Given the description of an element on the screen output the (x, y) to click on. 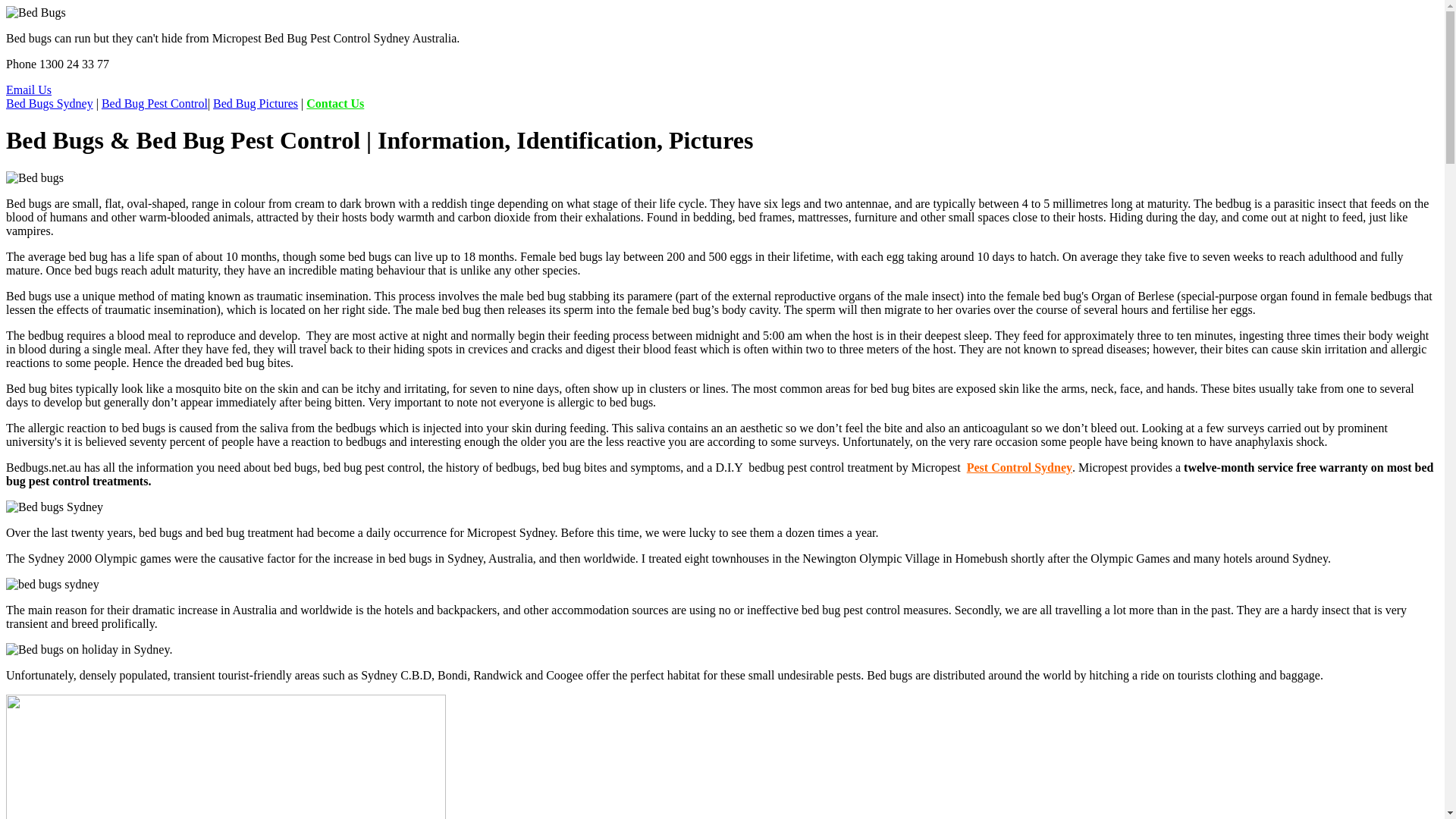
bed bugs sydney Element type: hover (52, 584)
Bed Bugs  Element type: hover (54, 507)
Contact Us Element type: text (335, 103)
Pest Control Sydney Element type: text (1019, 467)
Bed Bugs Sydney Element type: text (49, 103)
Bed Bug Pictures Element type: text (255, 103)
Email Us Element type: text (28, 89)
Bed Bugs Element type: hover (35, 12)
Bed Bug Pest Control Element type: text (154, 103)
